Given the description of an element on the screen output the (x, y) to click on. 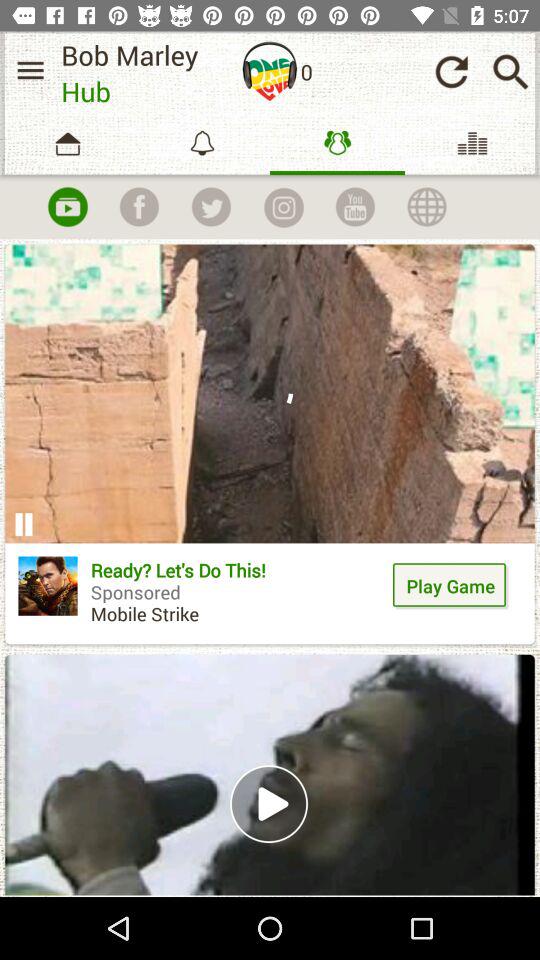
choose the ready let s (238, 599)
